Given the description of an element on the screen output the (x, y) to click on. 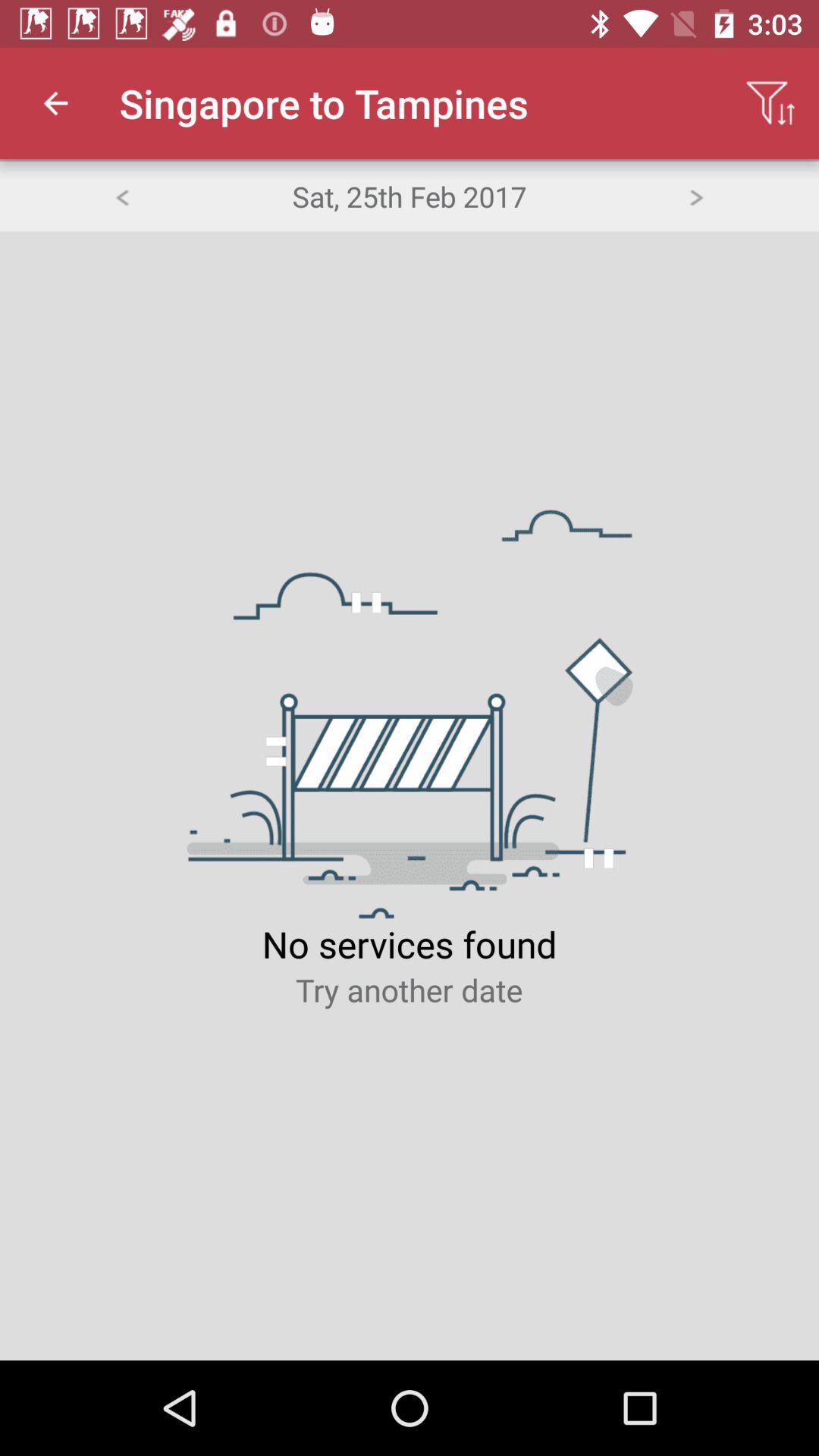
turn on the icon next to the singapore to tampines app (770, 103)
